Given the description of an element on the screen output the (x, y) to click on. 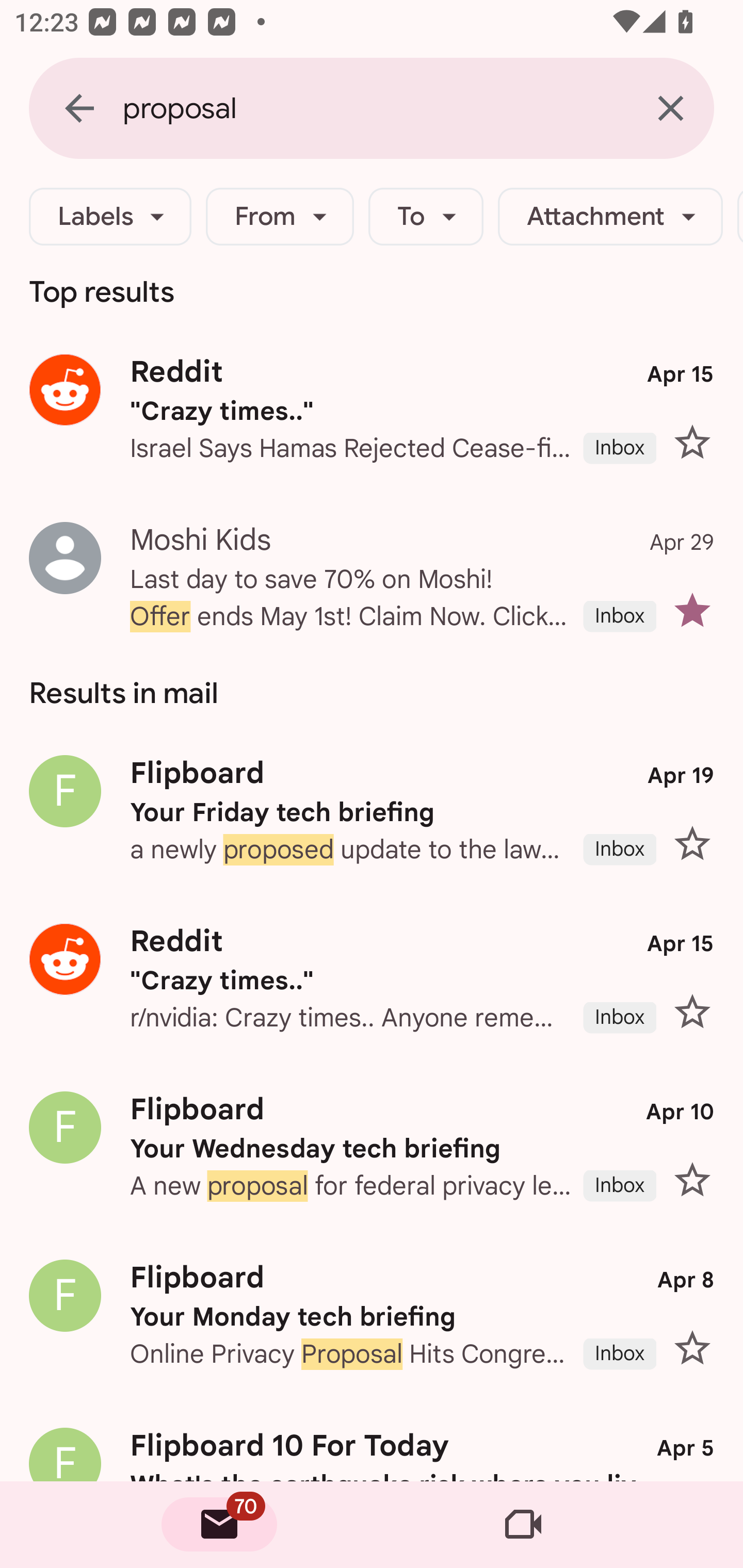
proposal Navigate up proposal Clear search text (371, 108)
Navigate up (79, 108)
Clear search text (670, 108)
Labels (109, 217)
From (279, 217)
To (425, 217)
Attachment (609, 217)
Meet (523, 1524)
